Given the description of an element on the screen output the (x, y) to click on. 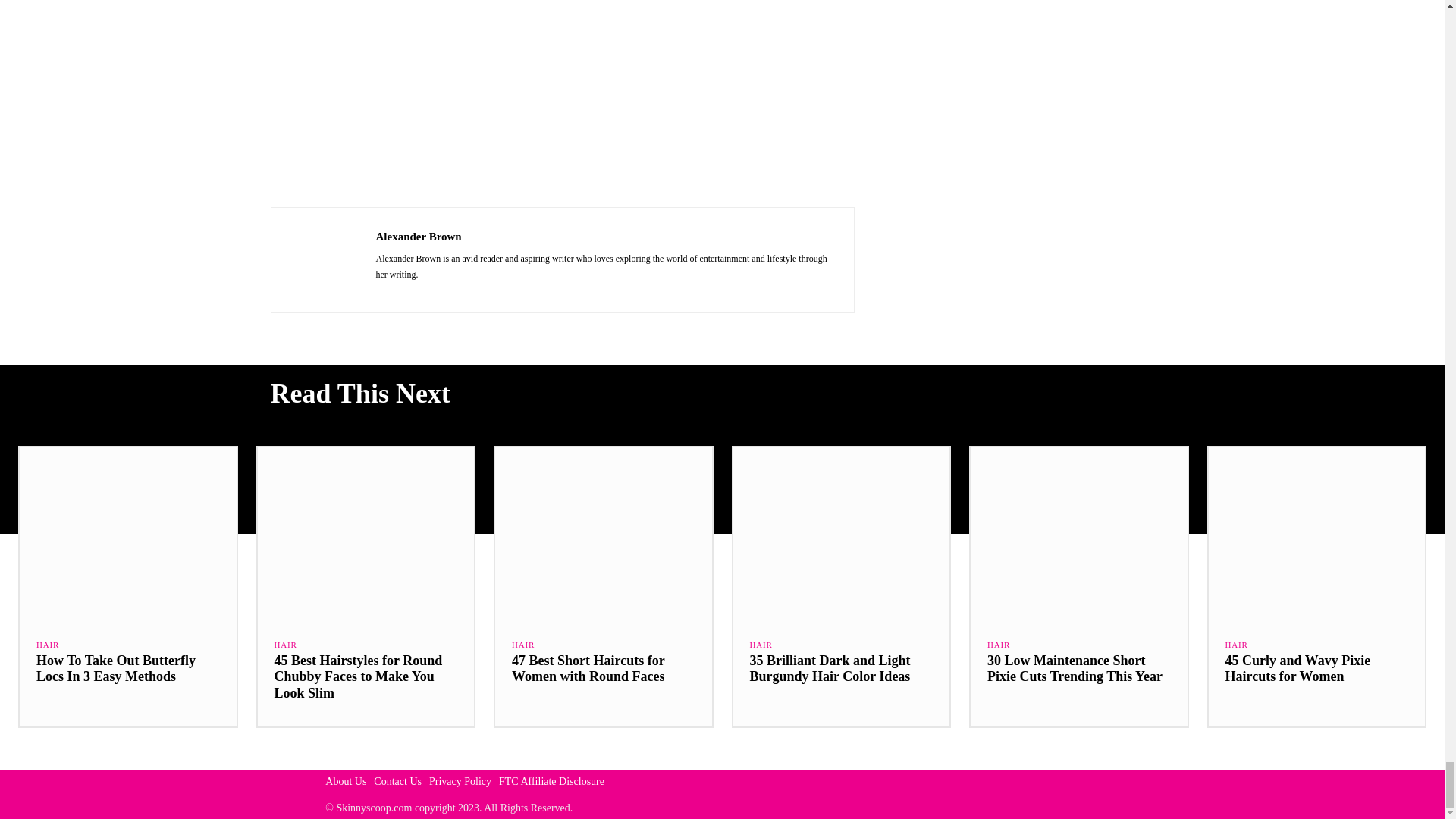
Alexander Brown (322, 259)
